Given the description of an element on the screen output the (x, y) to click on. 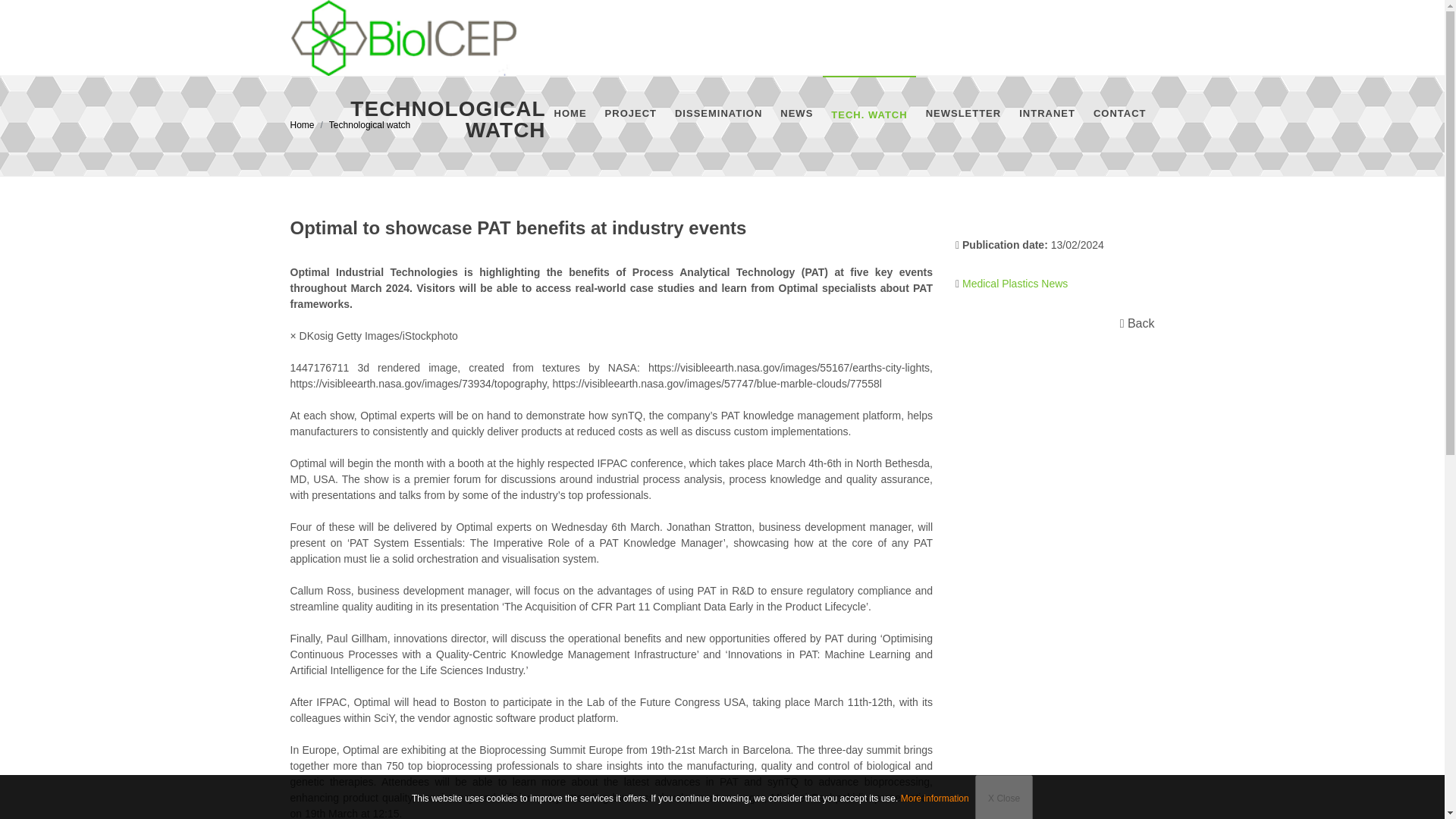
DISSEMINATION (718, 113)
INTRANET (1046, 113)
Home (301, 124)
Technological watch (369, 124)
X Close (1003, 796)
PROJECT (630, 113)
Medical Plastics News (1014, 283)
TECH. WATCH (868, 114)
Back (1136, 323)
NEWSLETTER (963, 113)
CONTACT (1119, 113)
